Given the description of an element on the screen output the (x, y) to click on. 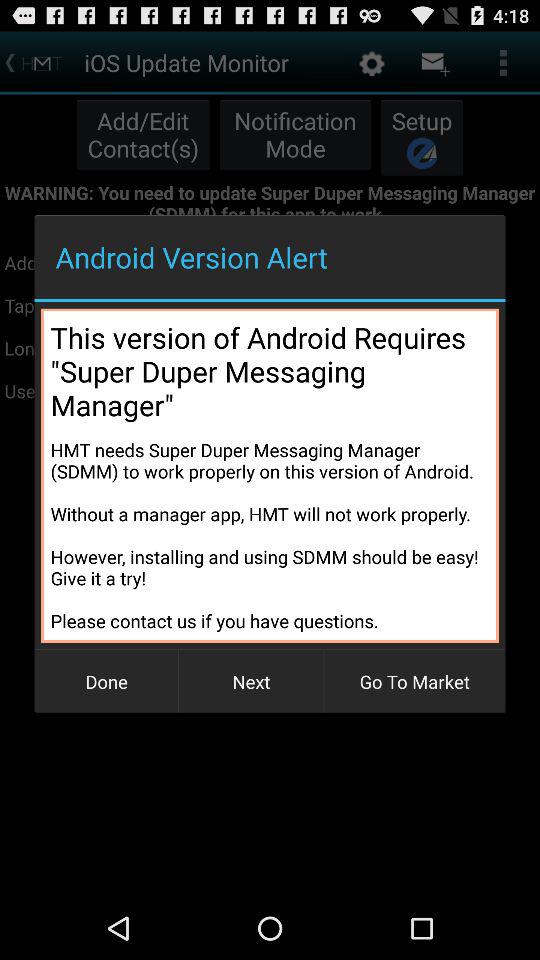
click item to the right of the next item (414, 681)
